Given the description of an element on the screen output the (x, y) to click on. 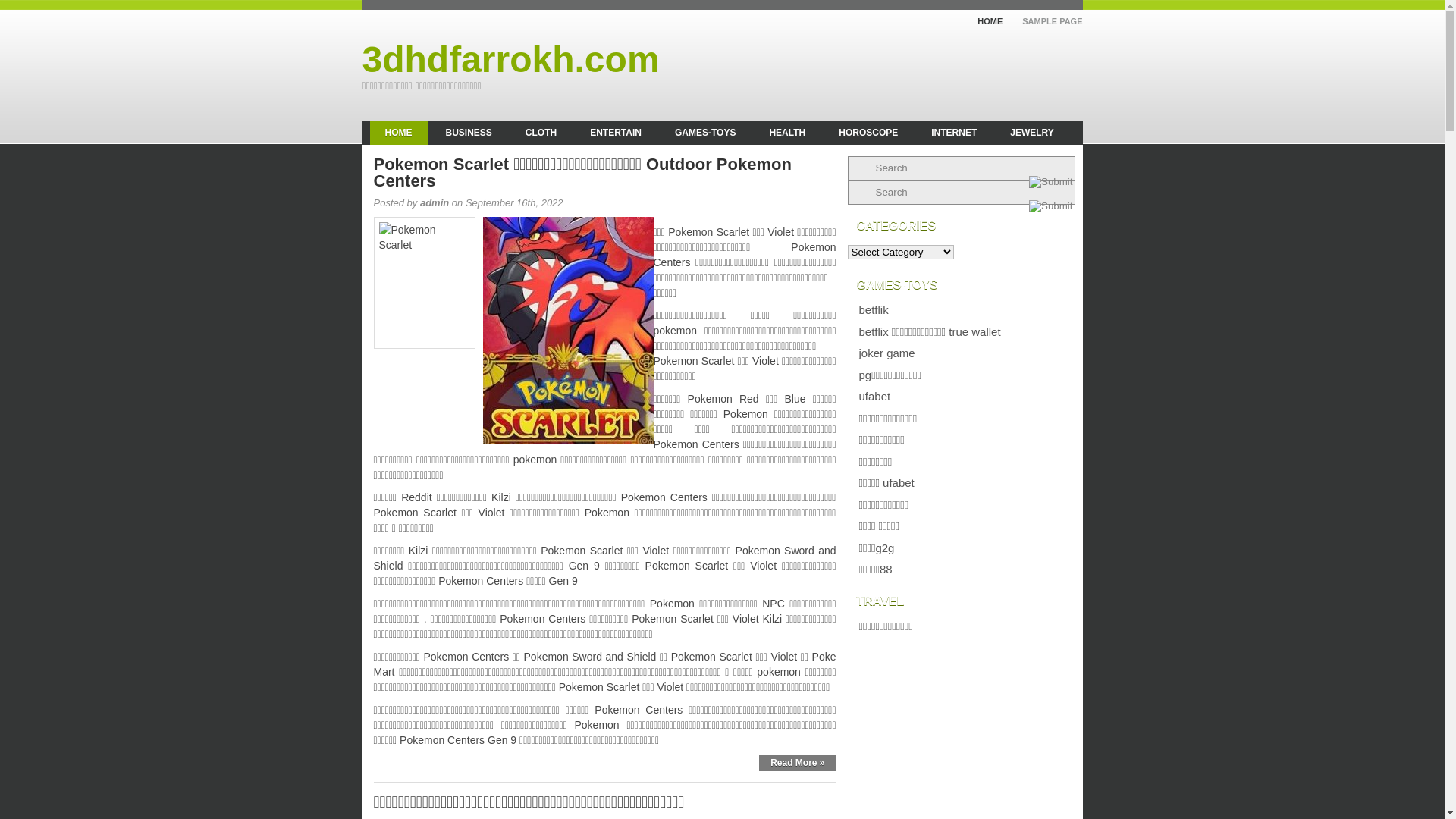
ufabet Element type: text (874, 395)
JEWELRY Element type: text (1031, 132)
HEALTH Element type: text (786, 132)
GAMES-TOYS Element type: text (704, 132)
ENTERTAIN Element type: text (615, 132)
HOME Element type: text (982, 20)
HOME Element type: text (398, 132)
HOROSCOPE Element type: text (868, 132)
betflik Element type: text (873, 309)
CLOTH Element type: text (540, 132)
BUSINESS Element type: text (468, 132)
3dhdfarrokh.com Element type: text (510, 59)
SAMPLE PAGE Element type: text (1044, 20)
INTERNET Element type: text (953, 132)
joker game Element type: text (886, 352)
